Given the description of an element on the screen output the (x, y) to click on. 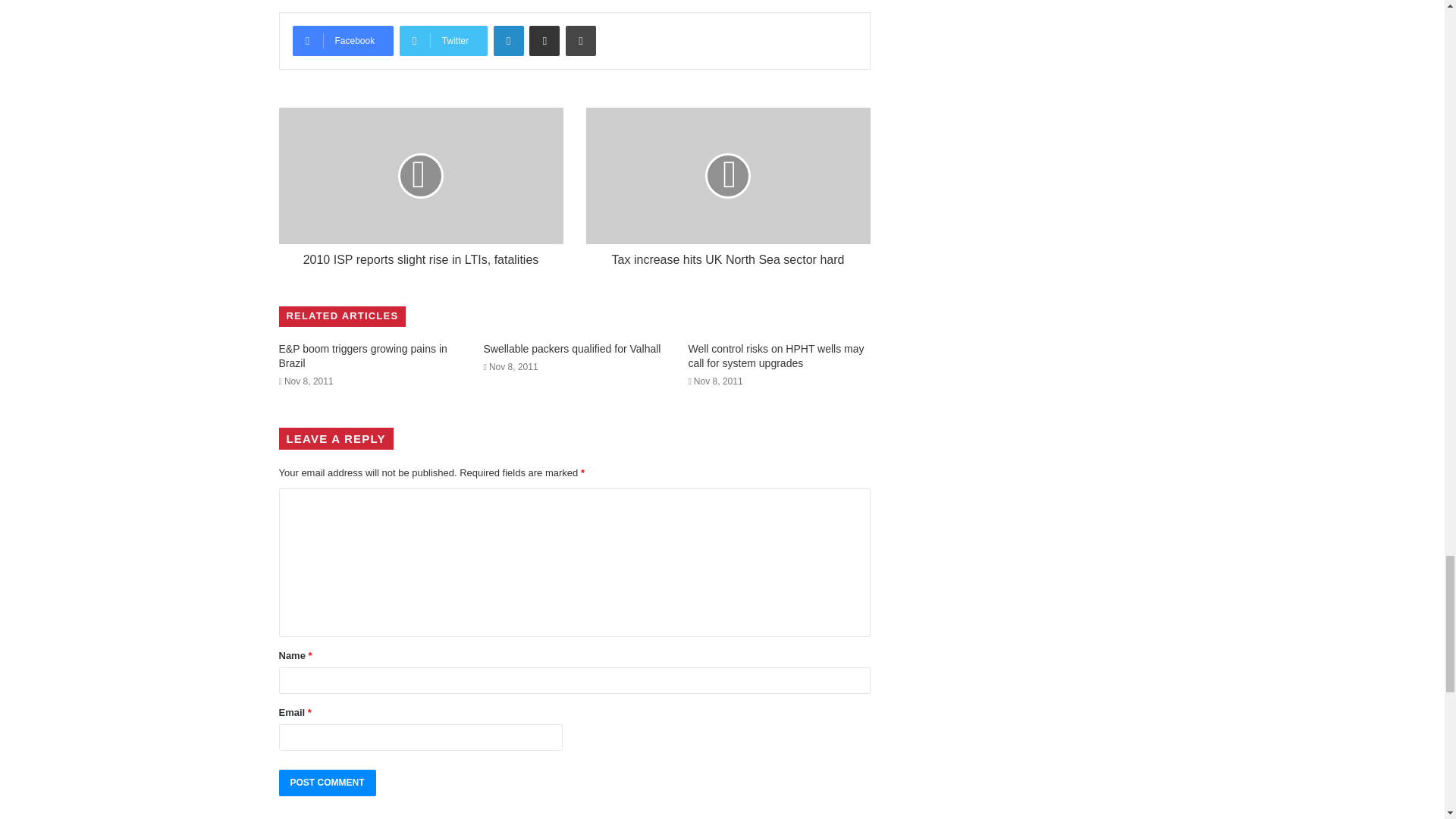
Facebook (343, 40)
Print (580, 40)
Post Comment (327, 782)
Share via Email (544, 40)
Twitter (442, 40)
LinkedIn (508, 40)
